Given the description of an element on the screen output the (x, y) to click on. 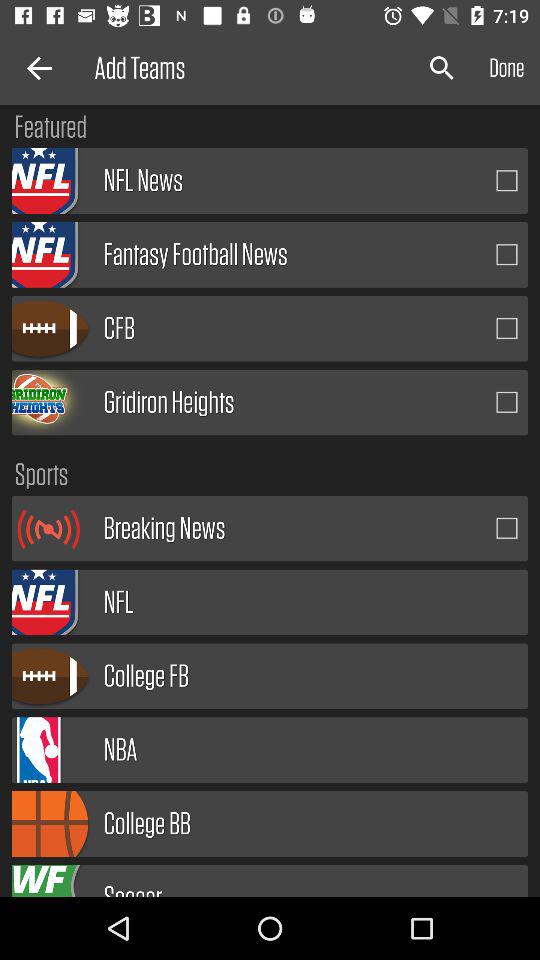
adds the team gridiron heights (507, 402)
